Given the description of an element on the screen output the (x, y) to click on. 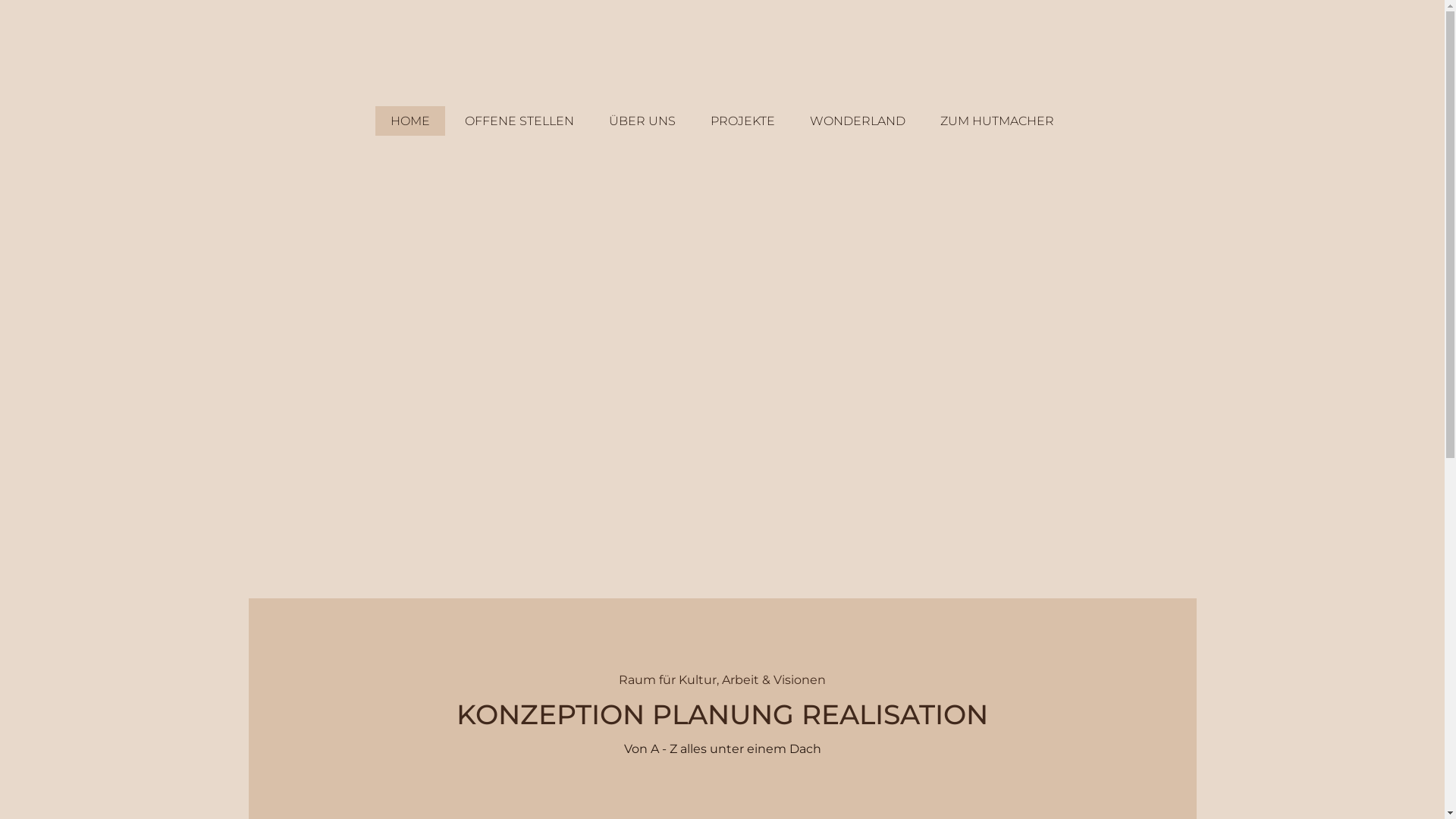
HOME Element type: text (410, 120)
PROJEKTE Element type: text (742, 120)
ZUM HUTMACHER Element type: text (997, 120)
WONDERLAND Element type: text (857, 120)
OFFENE STELLEN Element type: text (519, 120)
